Given the description of an element on the screen output the (x, y) to click on. 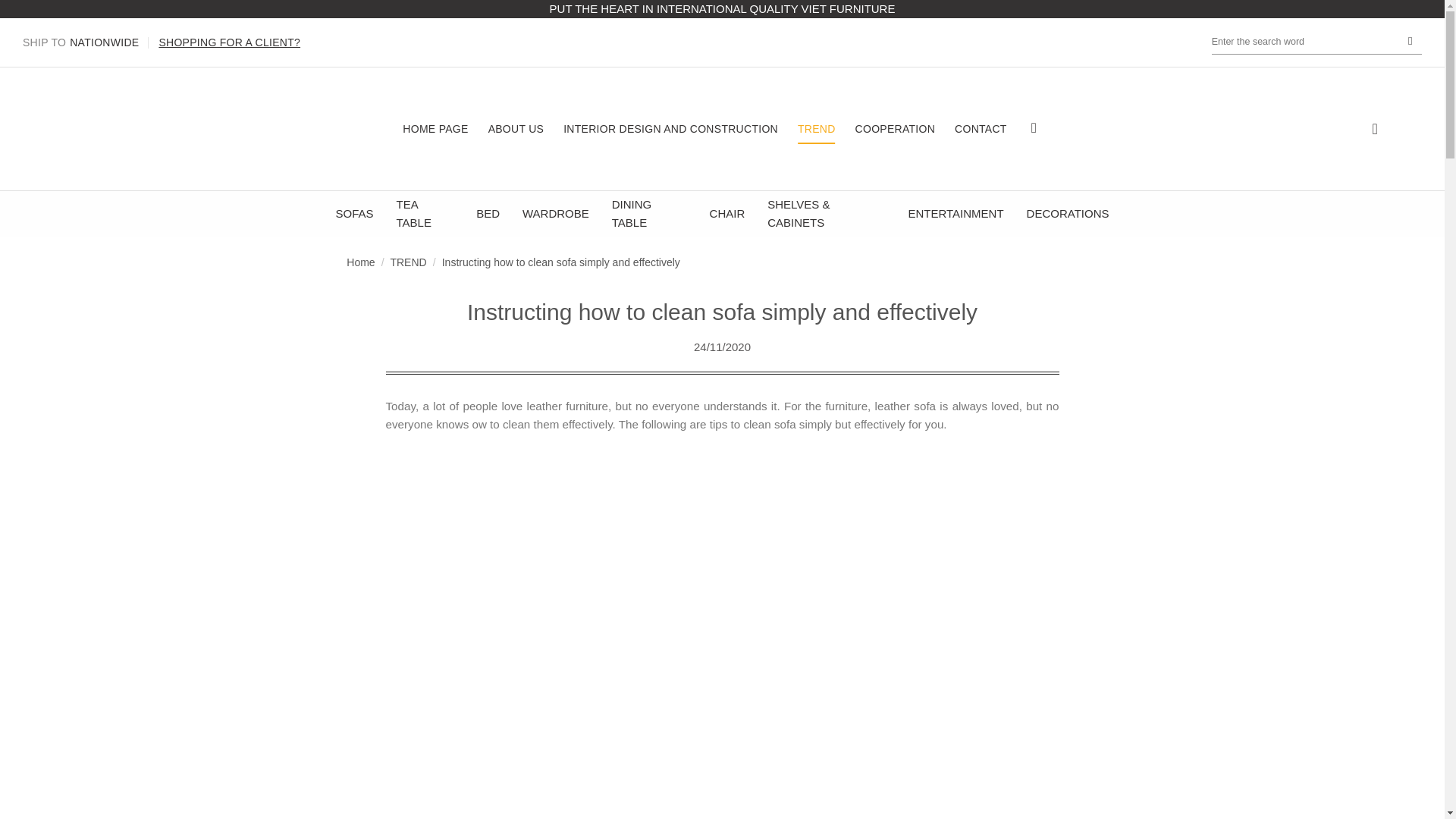
TEA TABLE (425, 213)
CONTACT (981, 129)
CHAIR (80, 42)
ABOUT US (727, 213)
SOFAS (515, 129)
Skip to content (353, 213)
DINING TABLE (955, 213)
FACEBOOK (649, 213)
SHOPPING FOR A CLIENT? (1034, 127)
WARDROBE (228, 42)
HOME PAGE (555, 213)
COOPERATION (435, 129)
TREND (896, 129)
